Given the description of an element on the screen output the (x, y) to click on. 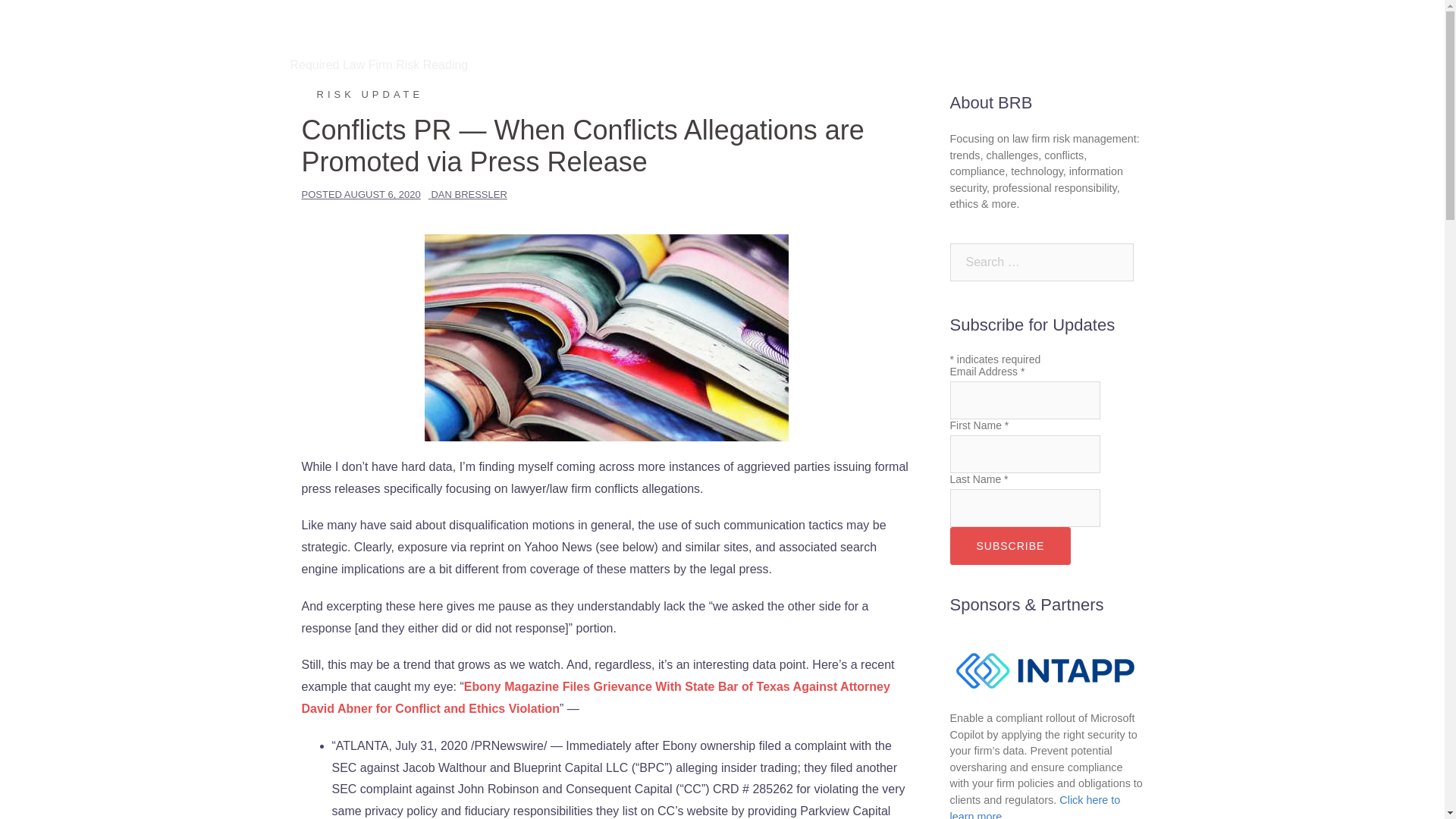
Click here to learn more. (1034, 806)
Subscribe (1009, 546)
Subscribe (1009, 546)
Search (50, 18)
Risk Jobs Board (874, 45)
Contact (1124, 45)
Risk Update (362, 93)
Get Blog Updates via Email (748, 45)
Bressler Risk Blog (388, 29)
AUGUST 6, 2020 (381, 194)
RISK UPDATE (362, 93)
Risk Staff Compensation Report (1010, 45)
DAN BRESSLER (468, 194)
